Given the description of an element on the screen output the (x, y) to click on. 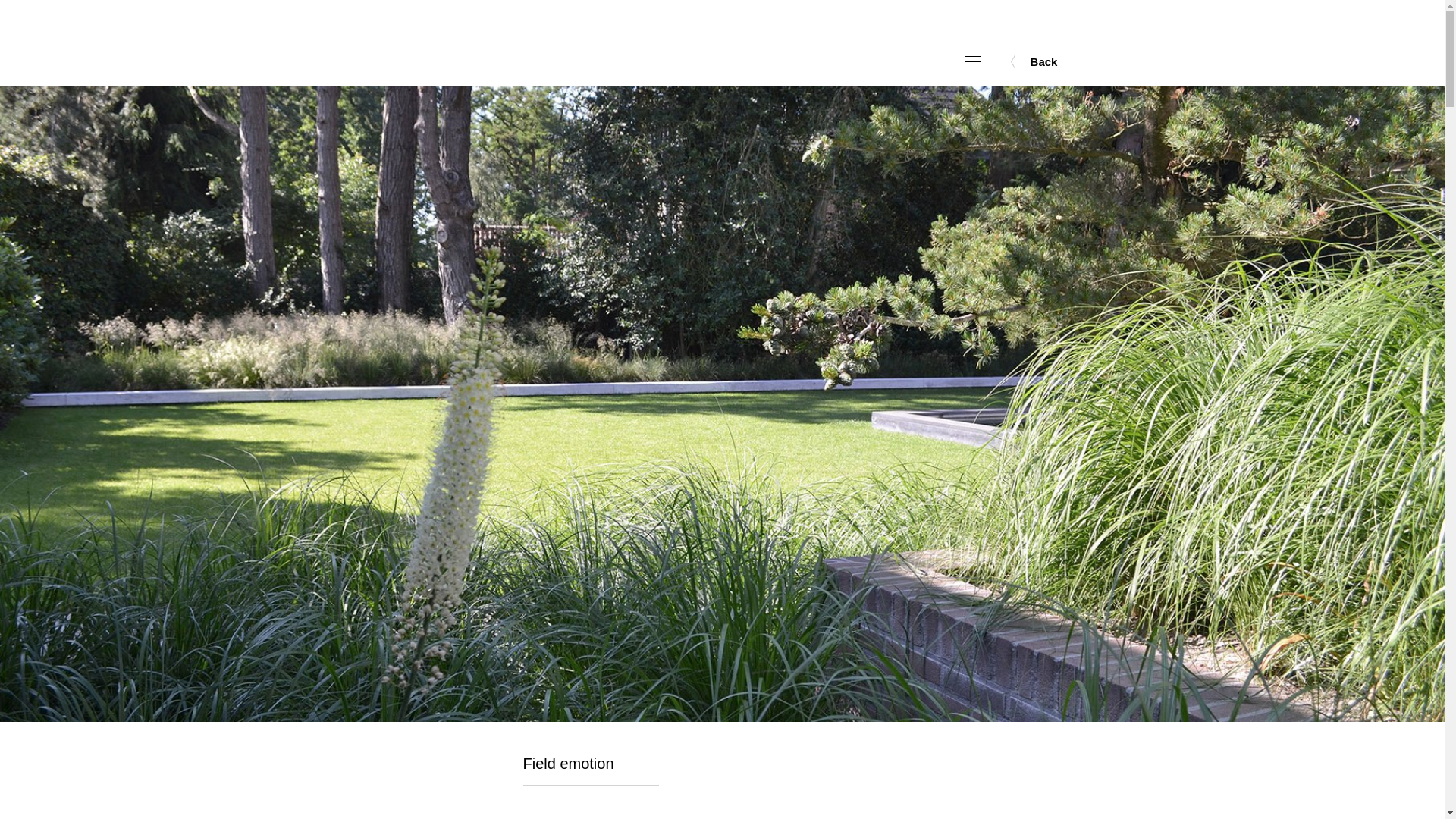
Back (1044, 61)
